Given the description of an element on the screen output the (x, y) to click on. 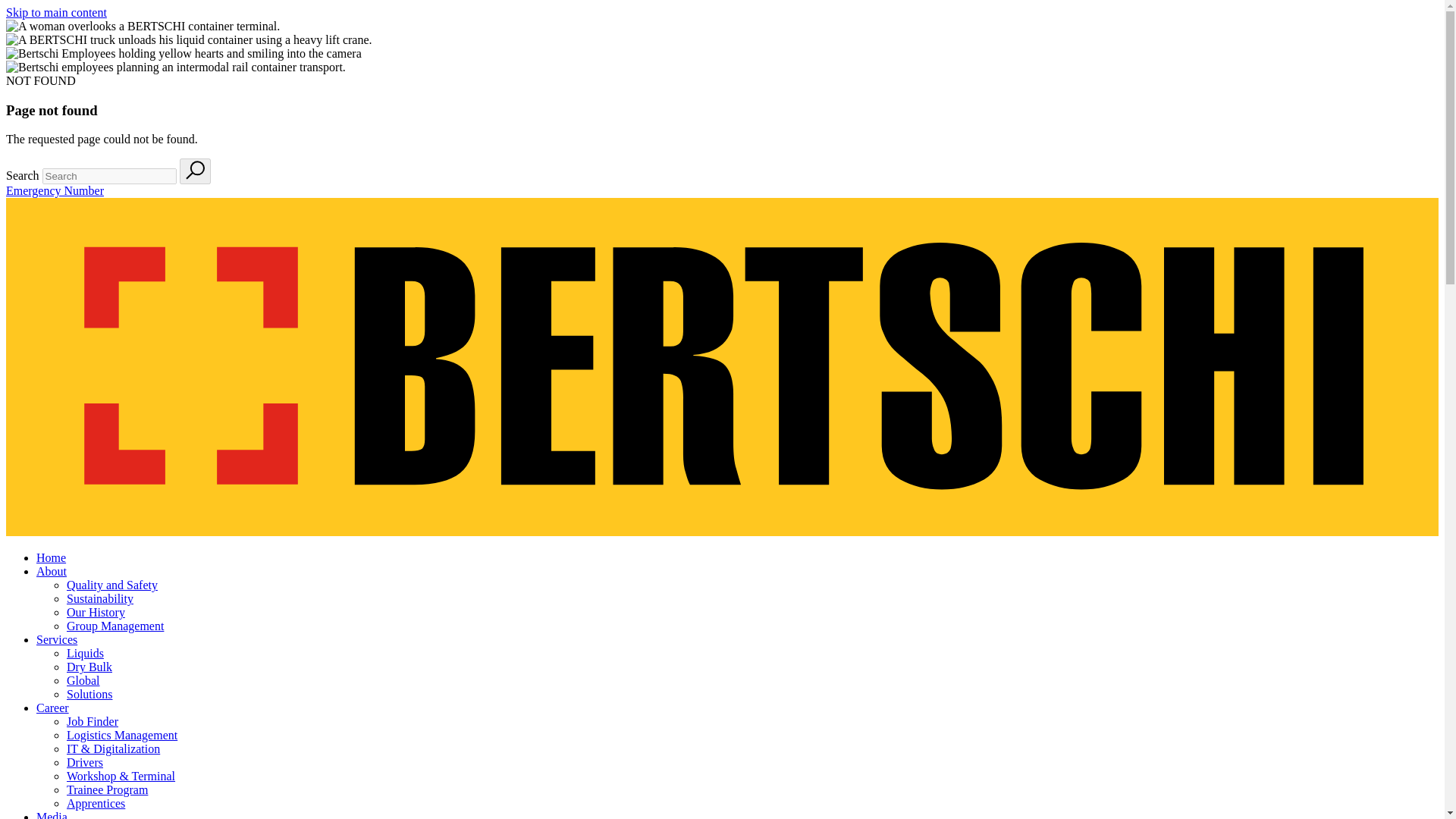
About (51, 571)
Quality and Safety (111, 584)
Trainee Program (107, 789)
Sustainability (99, 598)
Our History (95, 612)
Global (83, 680)
Trainee Program (107, 789)
Dry Bulk (89, 666)
Logistics Management (121, 735)
Quality and Safety (111, 584)
Global (83, 680)
Career (52, 707)
Group Management (114, 625)
Job Finder  (91, 721)
Career (52, 707)
